Given the description of an element on the screen output the (x, y) to click on. 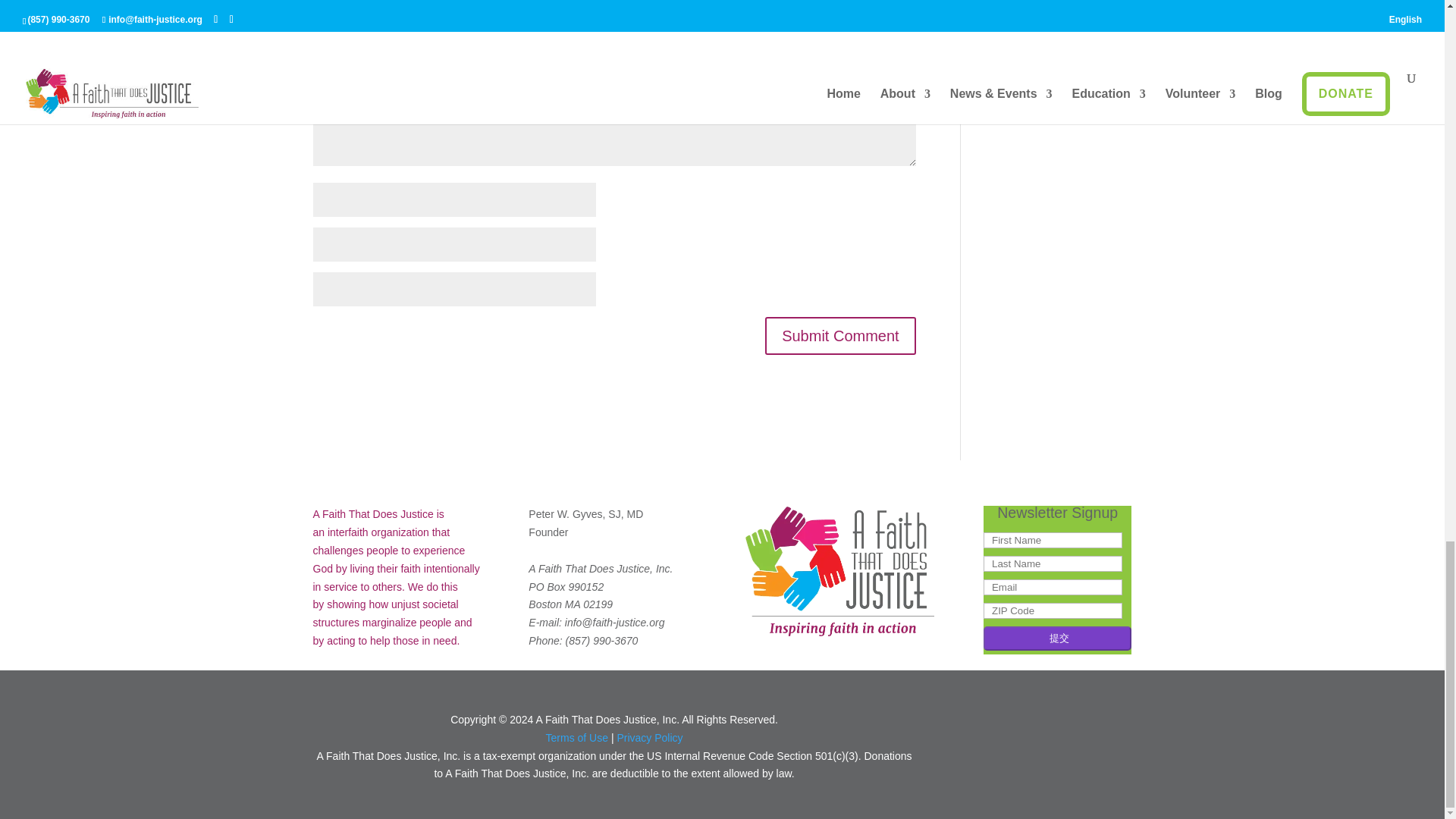
Submit Comment (840, 335)
